Given the description of an element on the screen output the (x, y) to click on. 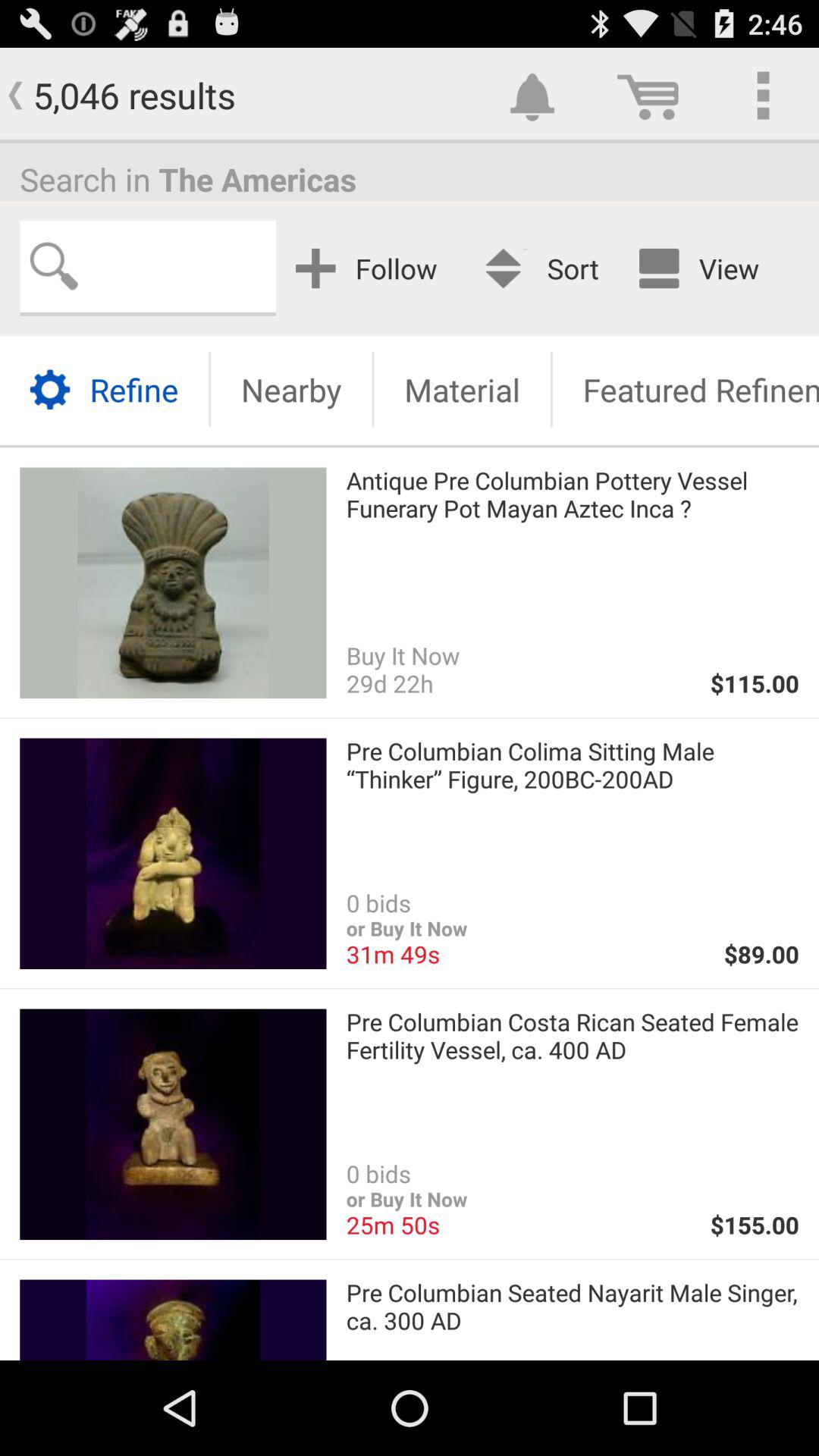
swipe until the material item (462, 389)
